Given the description of an element on the screen output the (x, y) to click on. 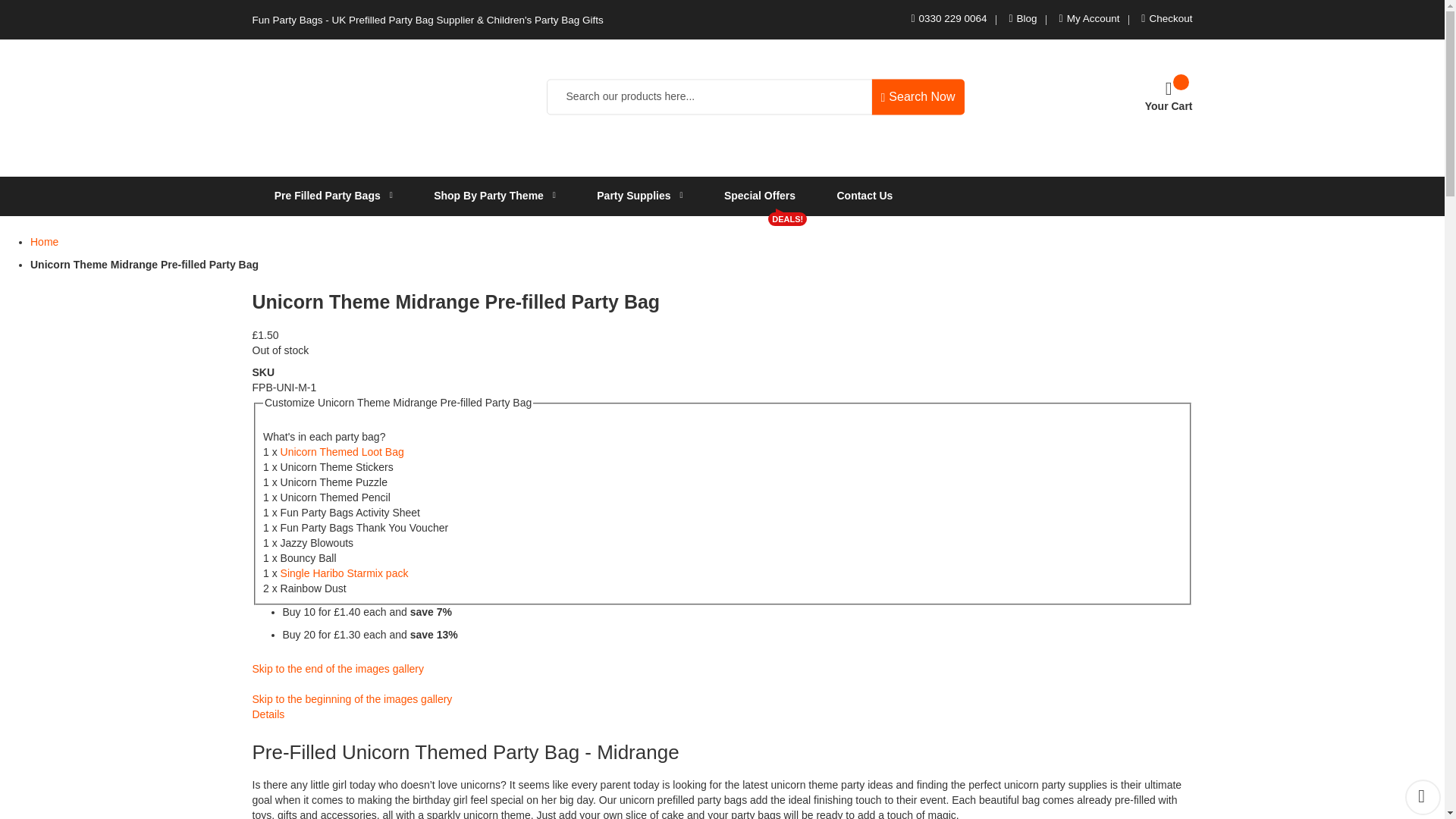
Availability: (721, 350)
Pre Filled Party Bags (330, 196)
My Account (1093, 18)
Shop By Party Theme (493, 196)
Search Now (916, 96)
0330 229 0064 (952, 18)
Your Cart (1168, 95)
Search Now (916, 96)
Fun Party Bags (319, 96)
Go to Home Page (44, 241)
Checkout (1170, 18)
Blog (1026, 18)
